Given the description of an element on the screen output the (x, y) to click on. 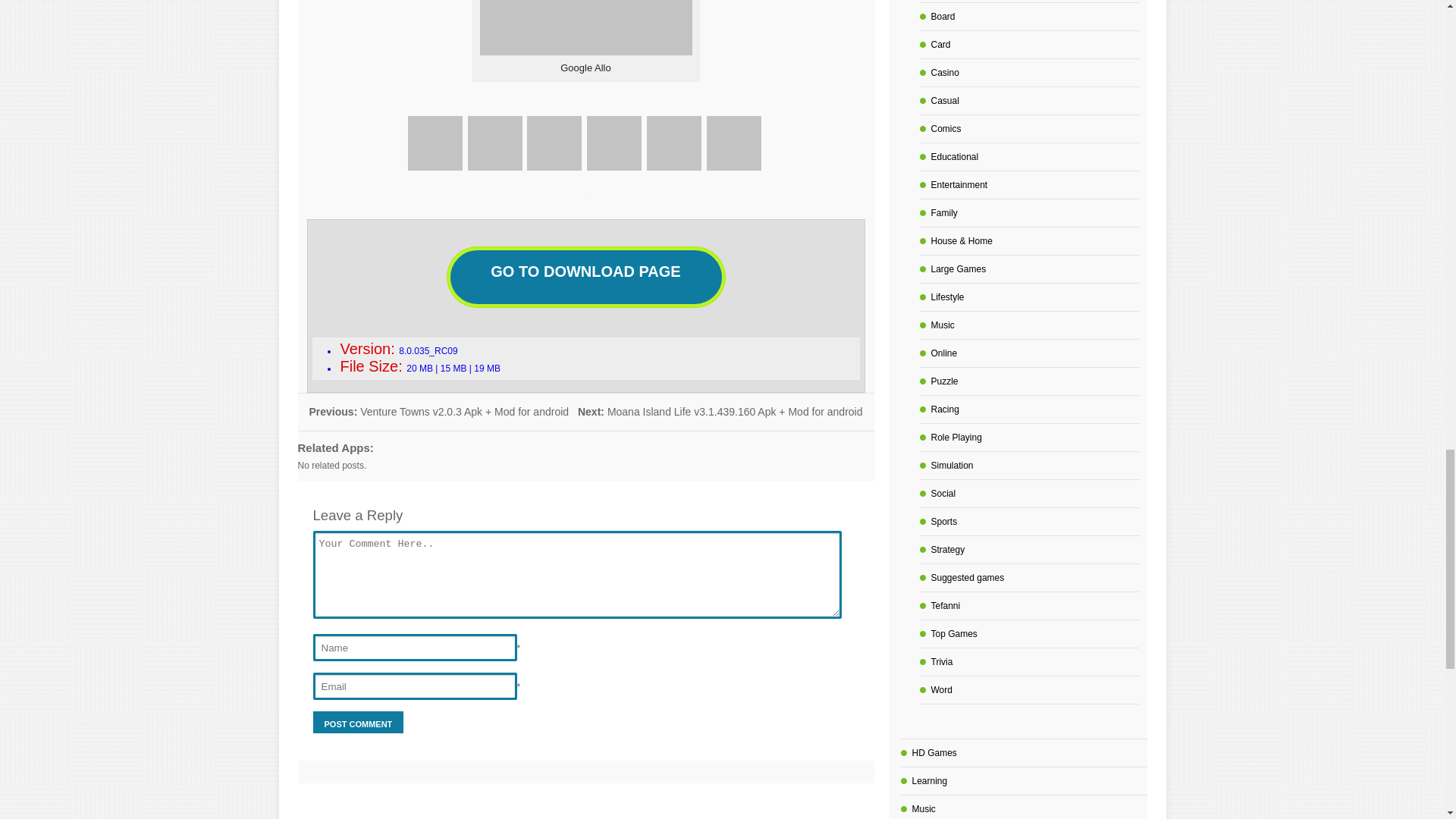
Twitter (494, 143)
pinterest (673, 143)
Telegram (614, 143)
Post Comment (358, 722)
Post Comment (358, 722)
Facebook (435, 143)
Instagram (553, 143)
GO TO DOWNLOAD PAGE (586, 276)
YouTube (733, 143)
